Given the description of an element on the screen output the (x, y) to click on. 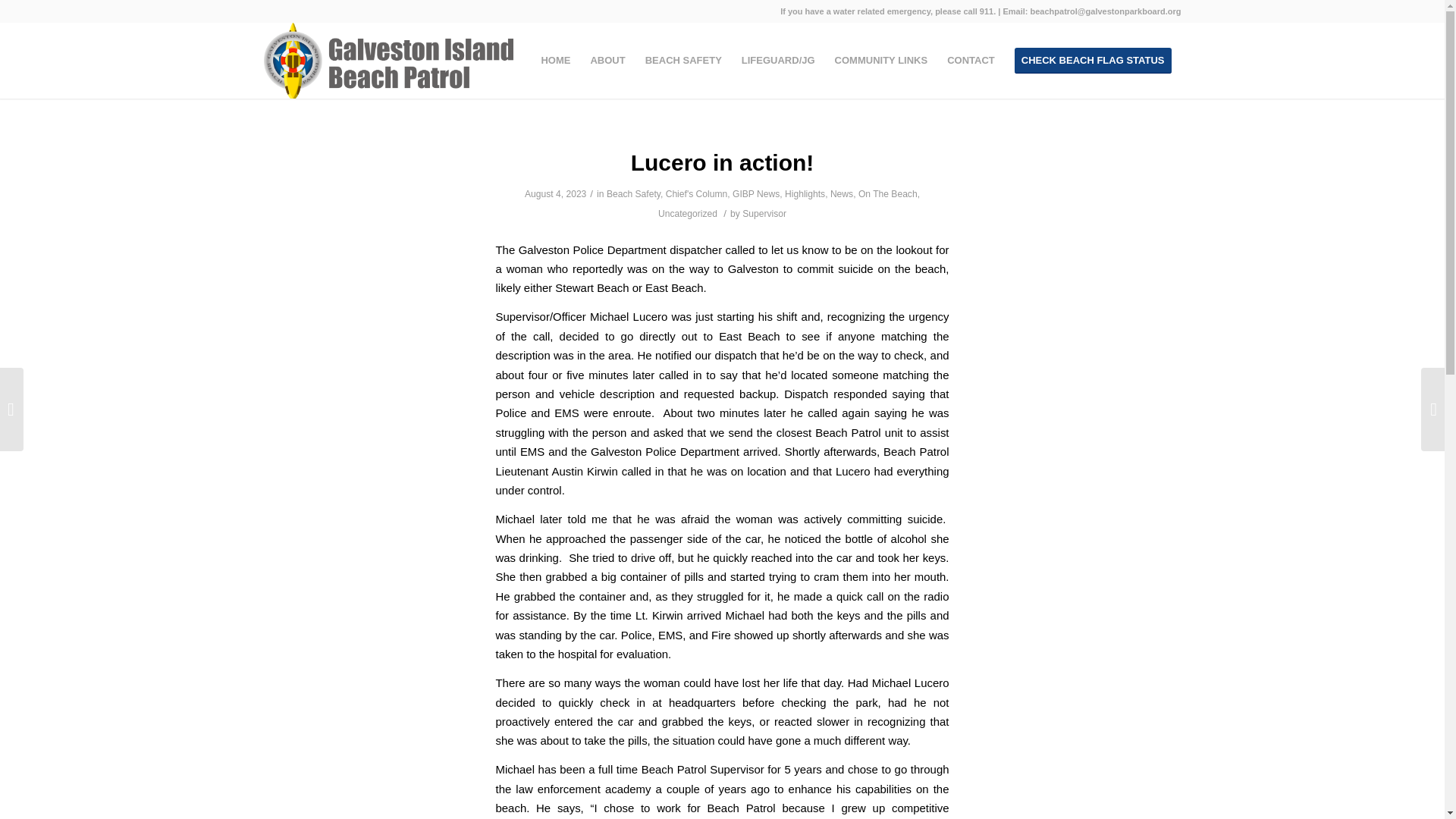
COMMUNITY LINKS (881, 60)
BEACH SAFETY (683, 60)
Permanent Link: Lucero in action! (721, 162)
CONTACT (970, 60)
Posts by Supervisor (764, 213)
CHECK BEACH FLAG STATUS (1092, 60)
Lucero in action! (721, 162)
